Given the description of an element on the screen output the (x, y) to click on. 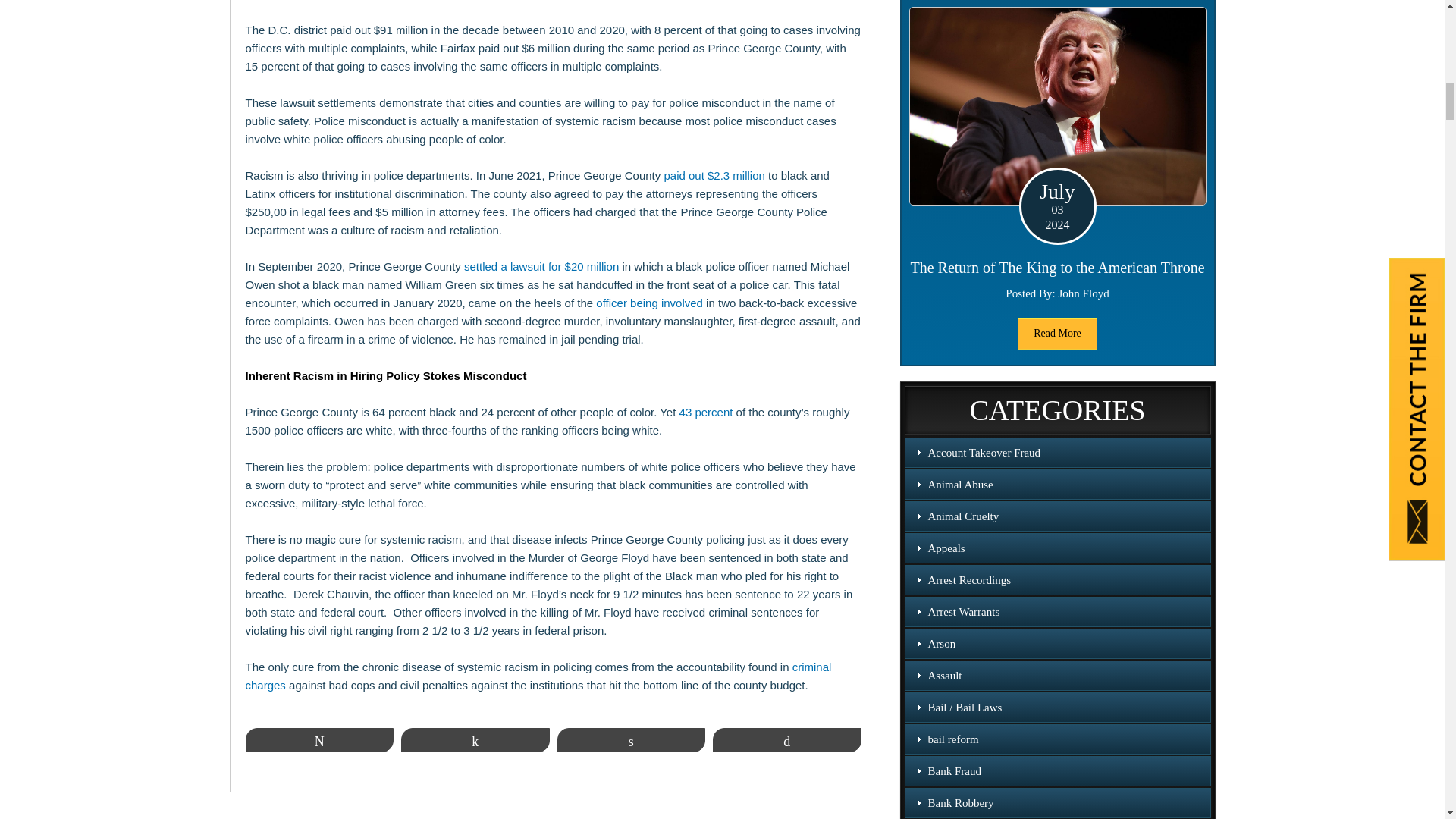
Posts by John Floyd (1083, 293)
